Given the description of an element on the screen output the (x, y) to click on. 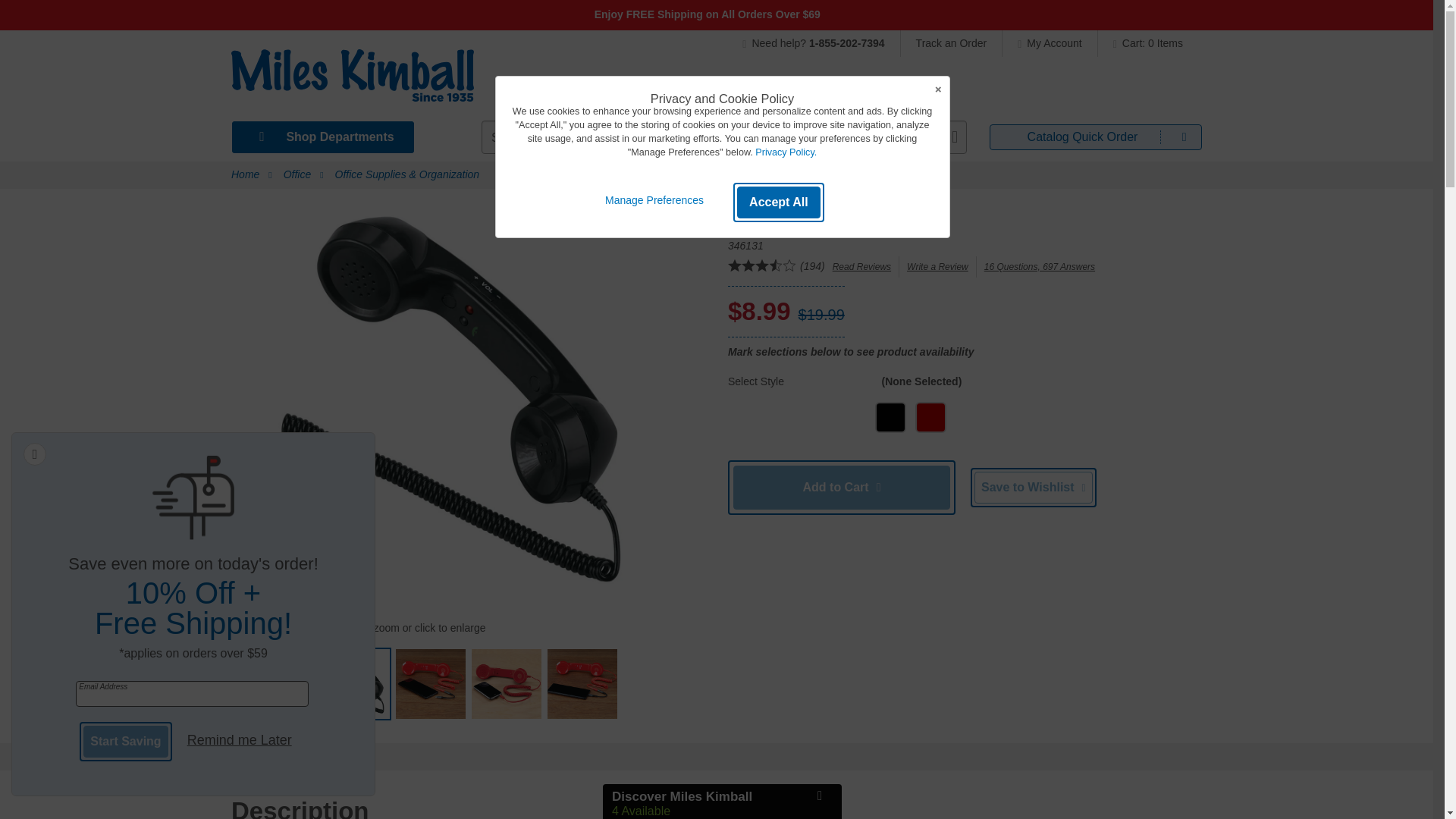
Need help? 1-855-202-7394 (820, 43)
Cart: 0 Items (1144, 43)
Shop Departments  (322, 137)
My Account (1050, 43)
Homepage Link (351, 81)
Please Select a Style (1036, 417)
Black (890, 417)
Star Rating: 3.6 (762, 267)
Review Count: 194 (812, 265)
Track an Order (952, 43)
